Given the description of an element on the screen output the (x, y) to click on. 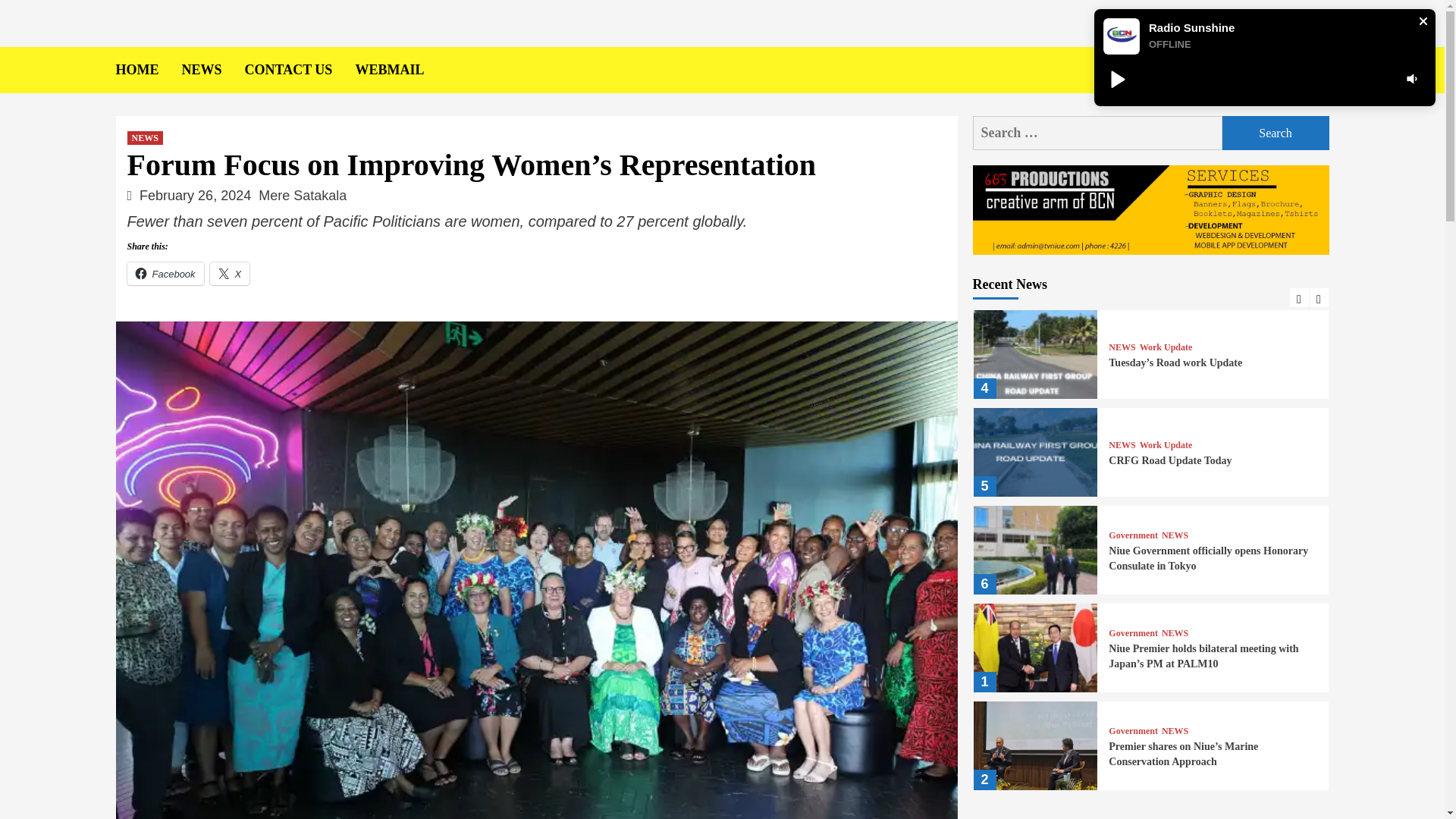
NEWS (145, 137)
Search (1276, 132)
Radio Sunshine (1191, 27)
Search (1276, 132)
NEWS (213, 69)
Search (1283, 118)
Mere Satakala (302, 195)
Click to share on X (229, 273)
CONTACT US (299, 69)
Search (1276, 132)
Close Player (1422, 21)
Click to share on Facebook (165, 273)
X (229, 273)
HOME (147, 69)
Facebook (165, 273)
